Given the description of an element on the screen output the (x, y) to click on. 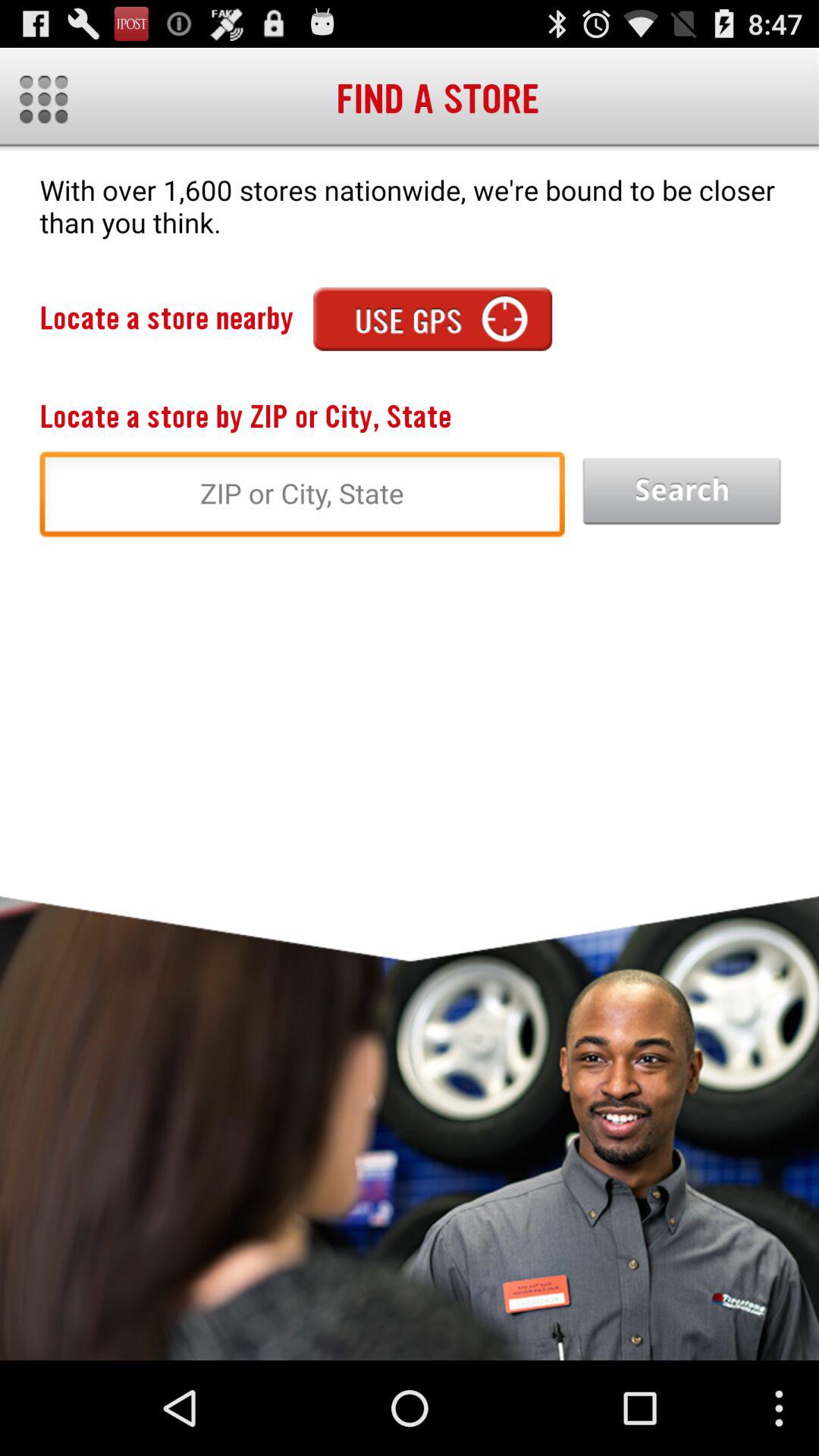
click app below the with over 1 app (681, 491)
